Given the description of an element on the screen output the (x, y) to click on. 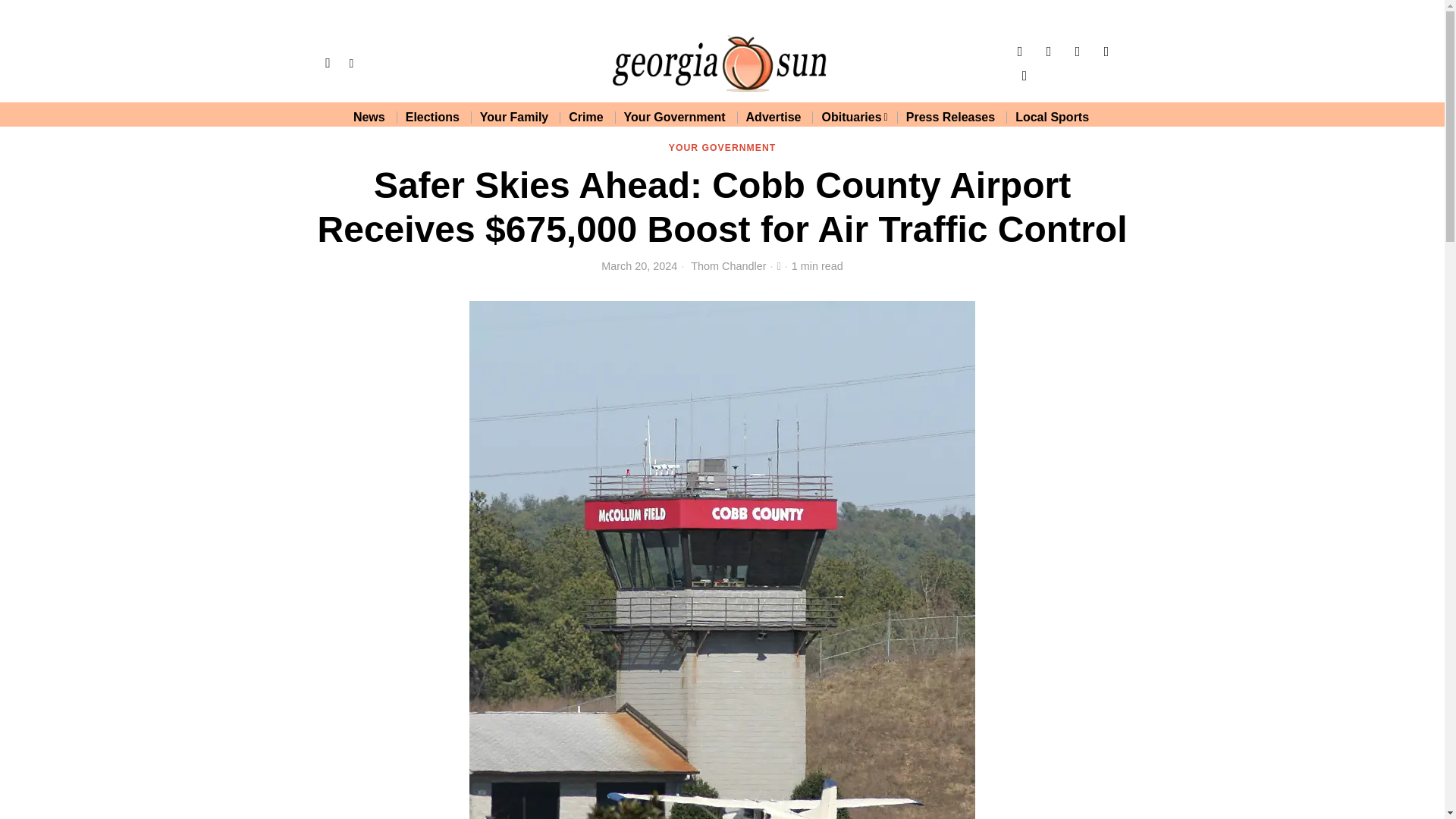
Obituaries (854, 117)
YOUR GOVERNMENT (722, 148)
20 Mar, 2024 08:11:39 (639, 265)
Advertise (774, 117)
Crime (586, 117)
Your Family (514, 117)
Elections (433, 117)
Press Releases (951, 117)
Your Government (675, 117)
Local Sports (1053, 117)
